Given the description of an element on the screen output the (x, y) to click on. 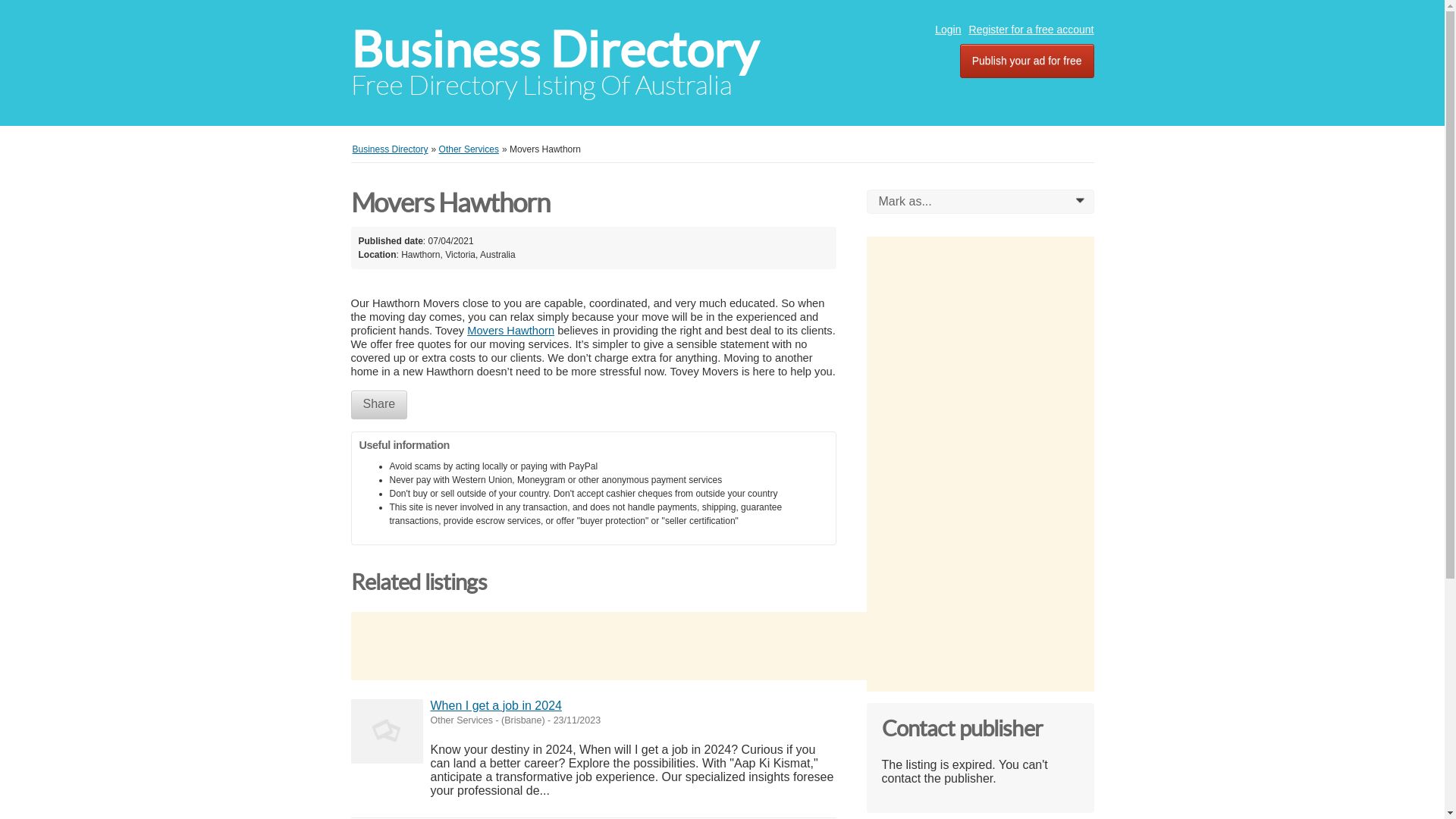
When I get a job in 2024 Element type: hover (386, 731)
Share Element type: text (378, 404)
Business Directory Element type: text (389, 149)
Register for a free account Element type: text (1031, 29)
Login Element type: text (947, 29)
Mark as...
0 Element type: text (979, 201)
Movers Hawthorn Element type: text (510, 330)
Advertisement Element type: hover (626, 645)
Publish your ad for free Element type: text (1027, 60)
Business Directory Element type: text (553, 49)
Other Services Element type: text (468, 149)
Advertisement Element type: hover (979, 463)
When I get a job in 2024 Element type: text (495, 705)
